Given the description of an element on the screen output the (x, y) to click on. 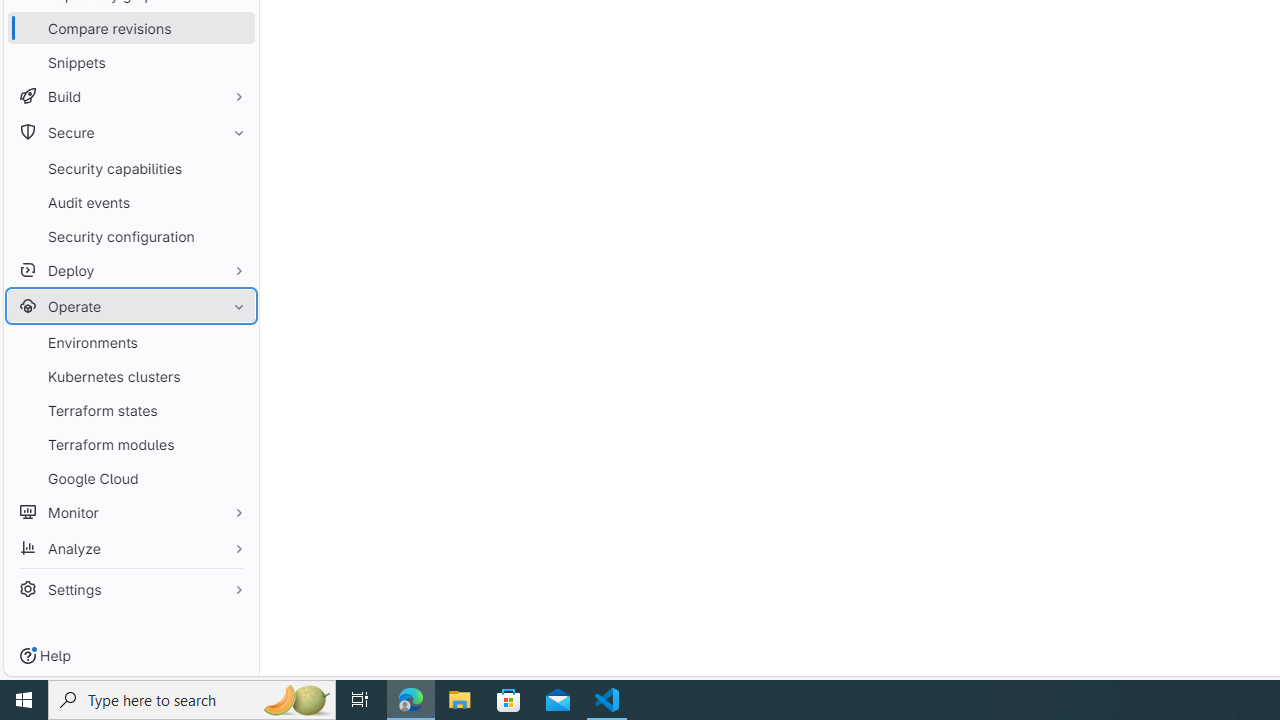
Pin Environments (234, 341)
Snippets (130, 62)
Pin Terraform modules (234, 444)
Google Cloud (130, 478)
Terraform states (130, 409)
Compare revisions (130, 28)
Kubernetes clusters (130, 376)
Security configuration (130, 236)
Pin Kubernetes clusters (234, 376)
Snippets (130, 62)
Audit events (130, 201)
Security capabilities (130, 168)
Pin Terraform states (234, 410)
Pin Google Cloud (234, 478)
